Given the description of an element on the screen output the (x, y) to click on. 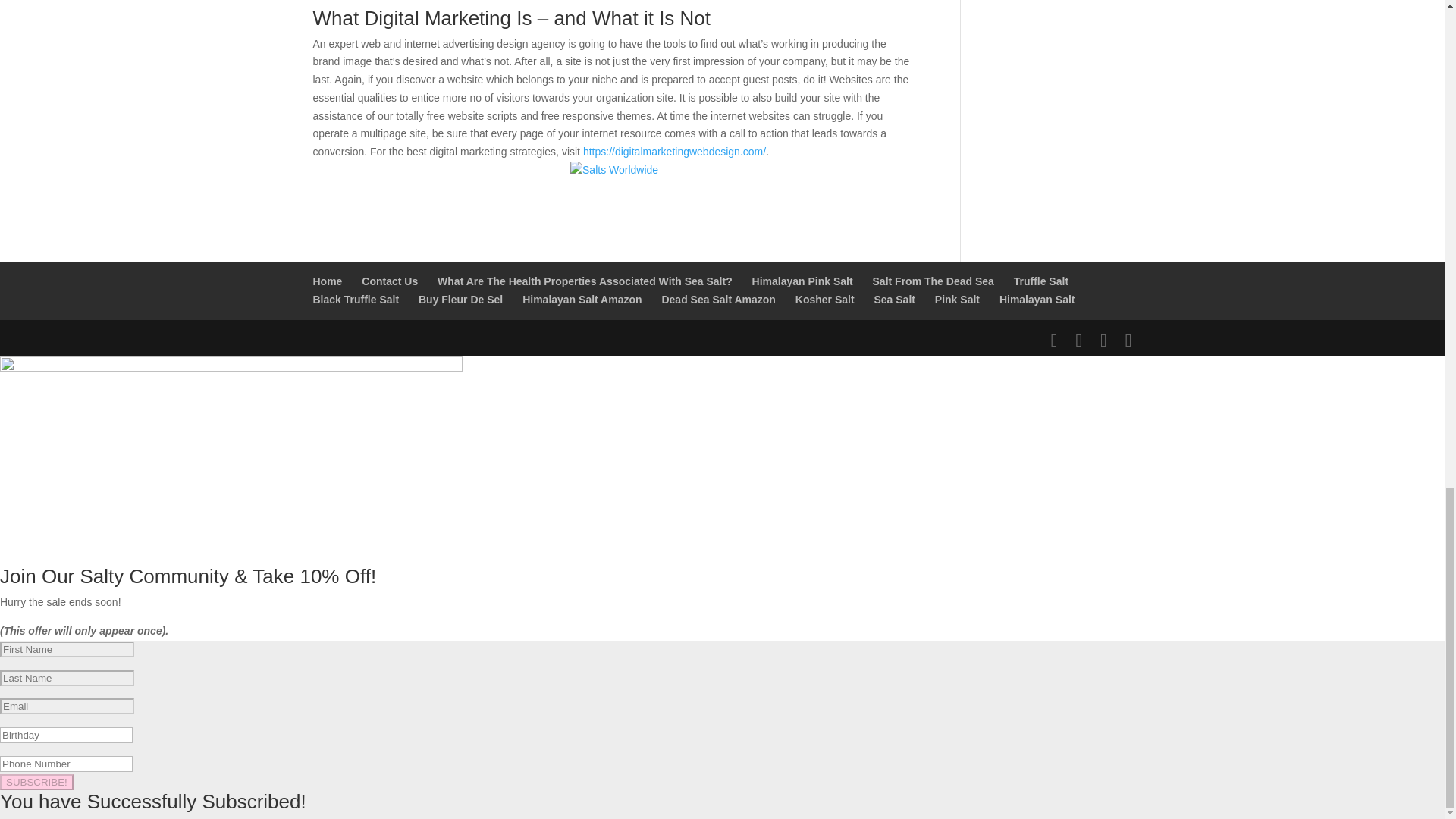
Sea Salt (893, 299)
What Are The Health Properties Associated With Sea Salt? (585, 281)
Salt From The Dead Sea (933, 281)
Black Truffle Salt (355, 299)
Dead Sea Salt Amazon (717, 299)
Himalayan Pink Salt (802, 281)
Himalayan Salt (1036, 299)
Truffle Salt (1040, 281)
SUBSCRIBE! (37, 781)
Contact Us (389, 281)
Pink Salt (956, 299)
Home (327, 281)
Buy Fleur De Sel (460, 299)
Kosher Salt (824, 299)
Himalayan Salt Amazon (582, 299)
